Given the description of an element on the screen output the (x, y) to click on. 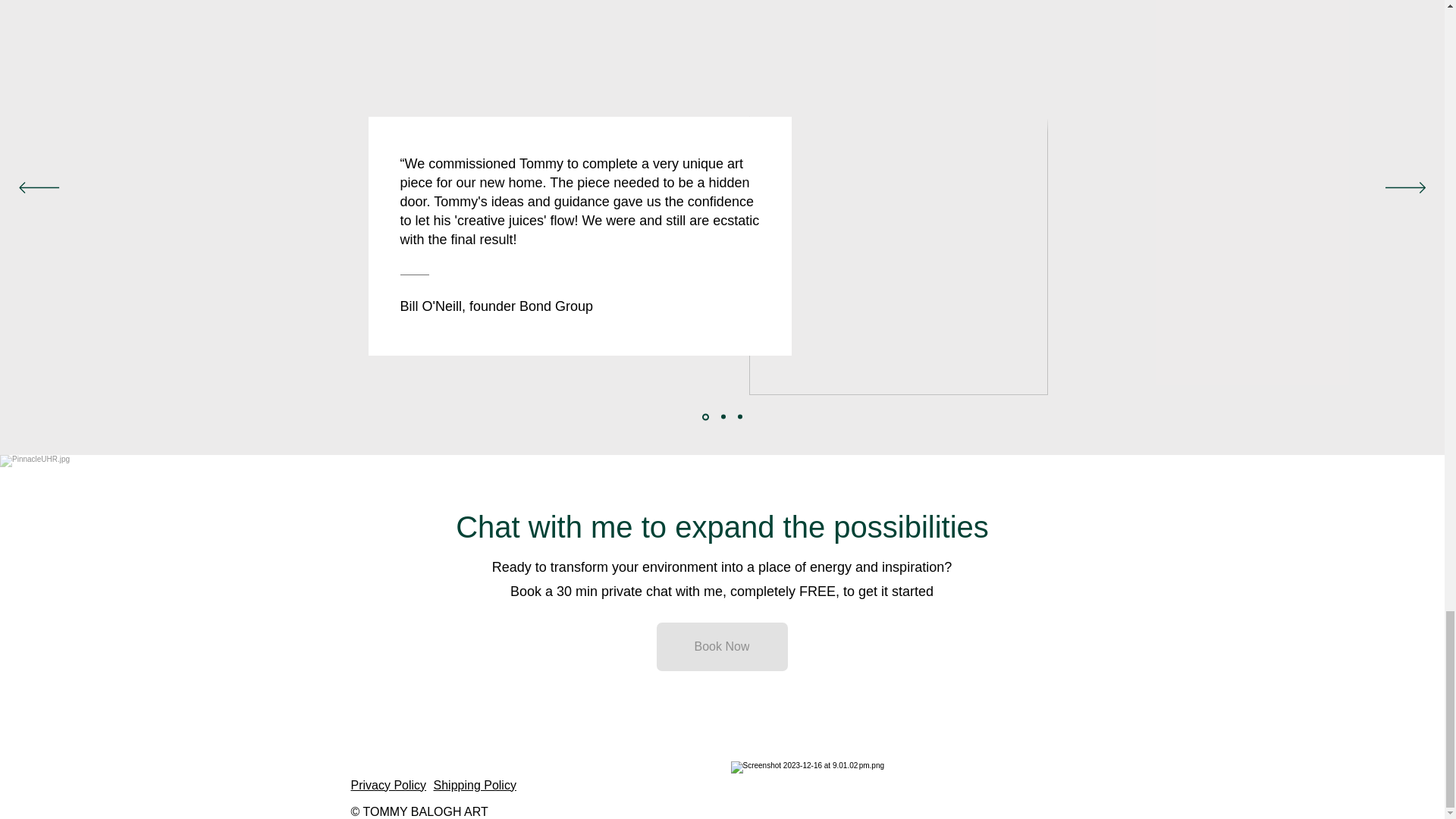
Book Now (721, 646)
Shipping Policy (474, 784)
Privacy Policy (388, 784)
